Given the description of an element on the screen output the (x, y) to click on. 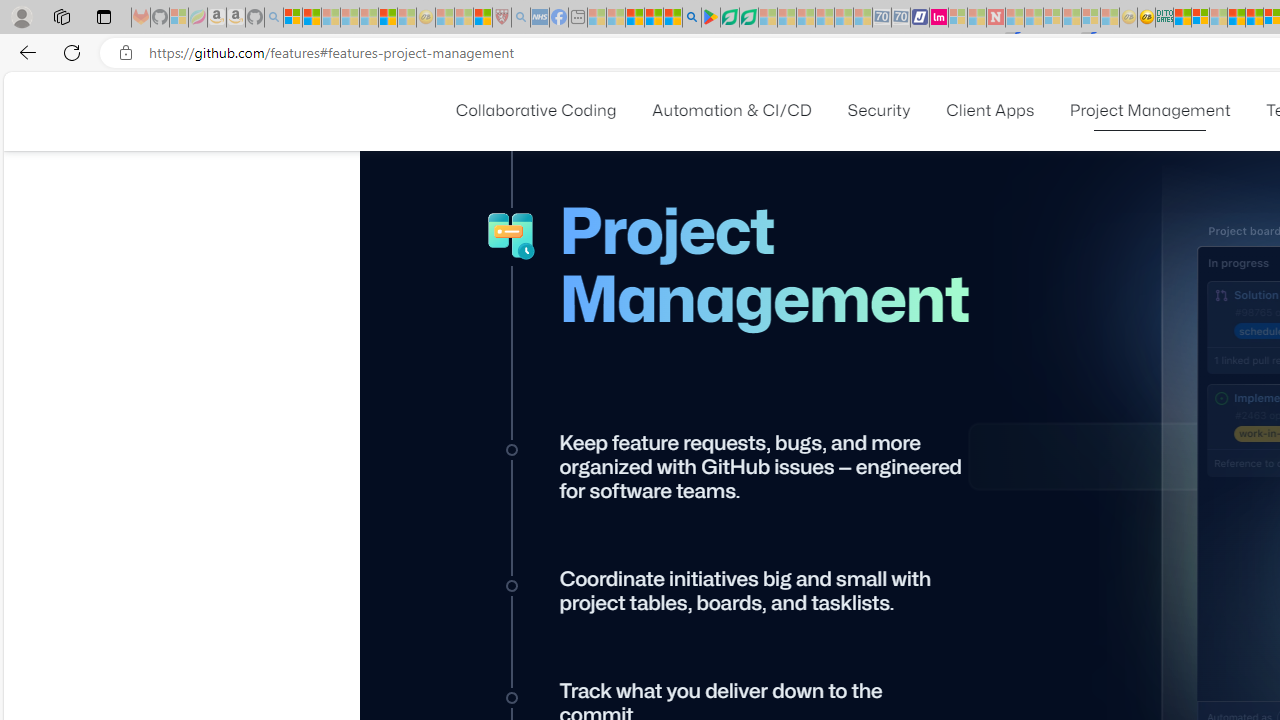
The Weather Channel - MSN - Sleeping (331, 17)
Microsoft account | Privacy (1200, 17)
GitHub Project Management Icon (511, 236)
New Report Confirms 2023 Was Record Hot | Watch - Sleeping (368, 17)
Microsoft-Report a Concern to Bing - Sleeping (179, 17)
Personal Profile (21, 16)
Trusted Community Engagement and Contributions | Guidelines (1014, 17)
Collaborative Coding (535, 110)
Client Apps (990, 110)
